Given the description of an element on the screen output the (x, y) to click on. 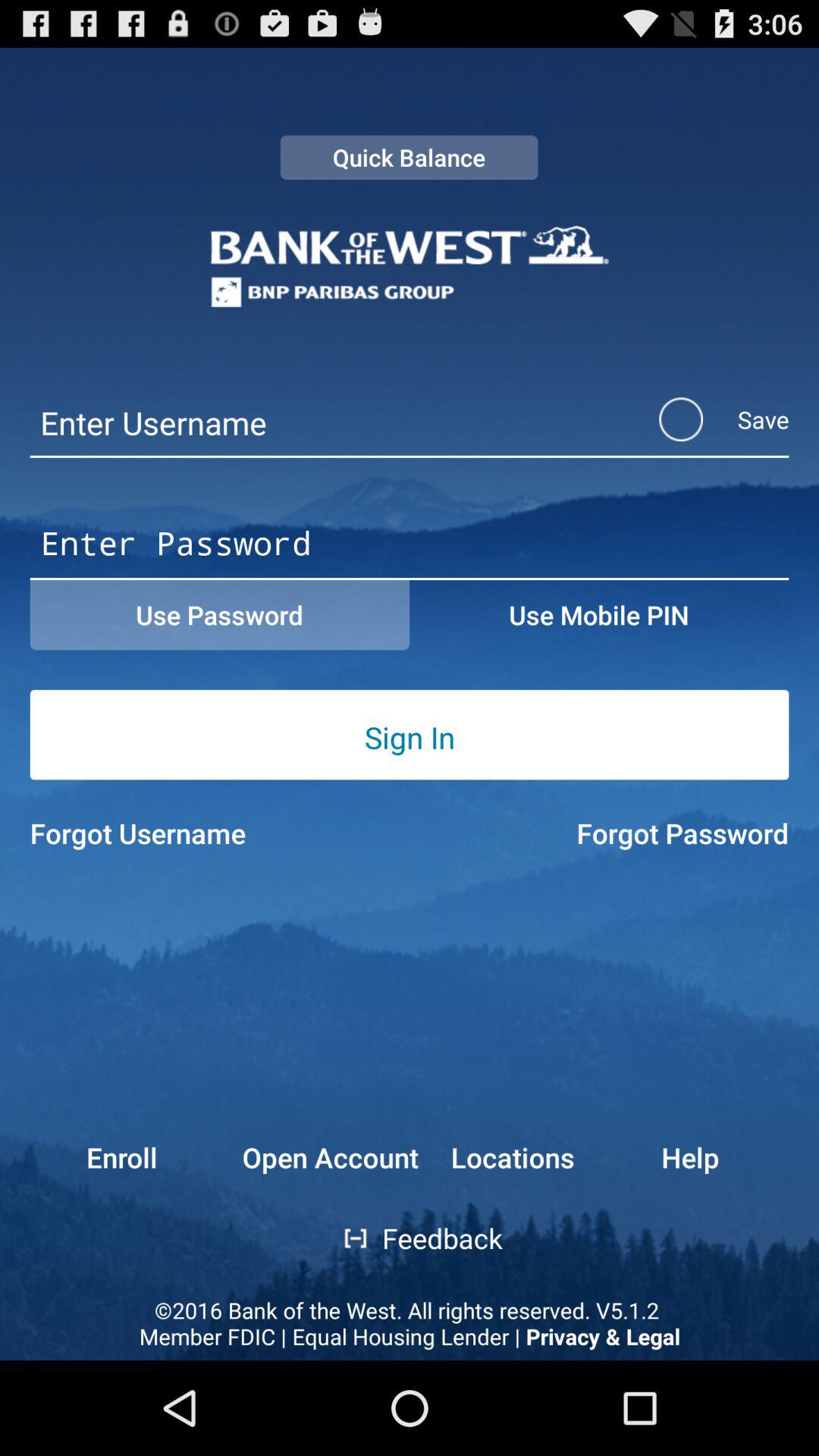
jump to the use mobile pin button (598, 615)
